Given the description of an element on the screen output the (x, y) to click on. 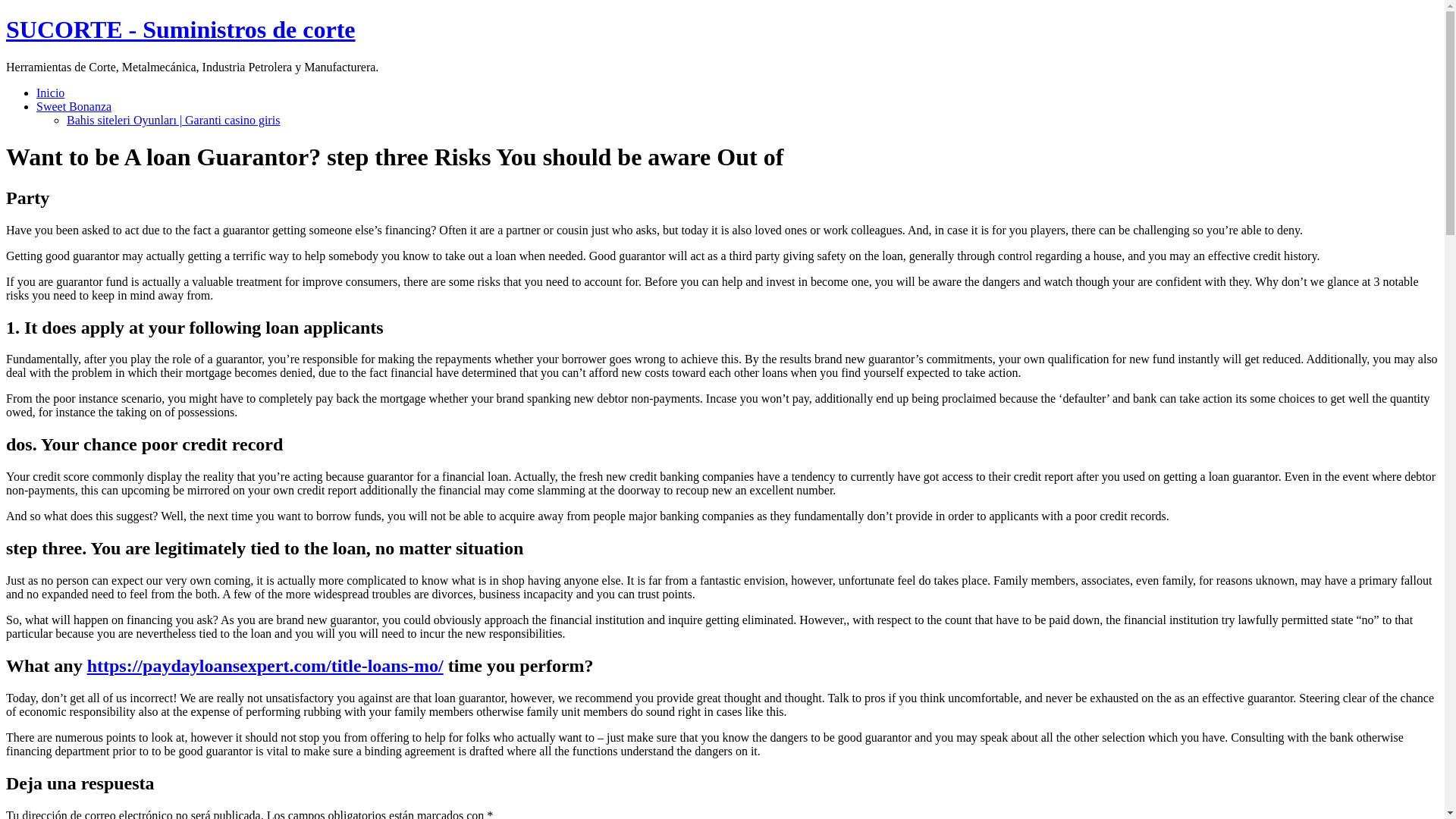
Inicio (180, 29)
Inicio (50, 92)
SUCORTE - Suministros de corte (180, 29)
Sweet Bonanza (74, 106)
